Given the description of an element on the screen output the (x, y) to click on. 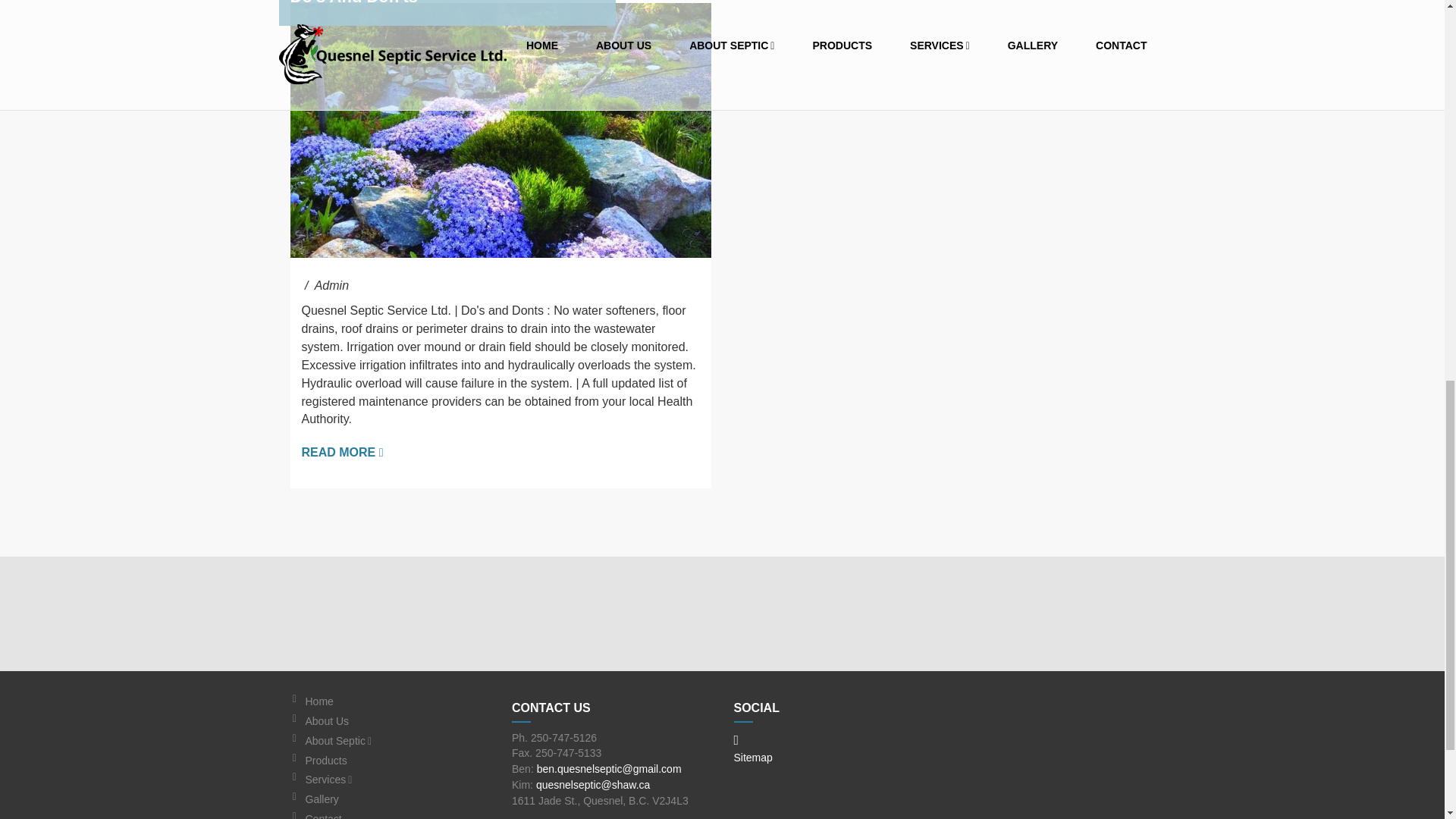
Services (396, 779)
Products (396, 760)
Facebook (736, 740)
Do'S And Don'Ts (353, 2)
Home (396, 701)
About Septic (396, 741)
About Us (396, 721)
READ MORE (342, 451)
